Given the description of an element on the screen output the (x, y) to click on. 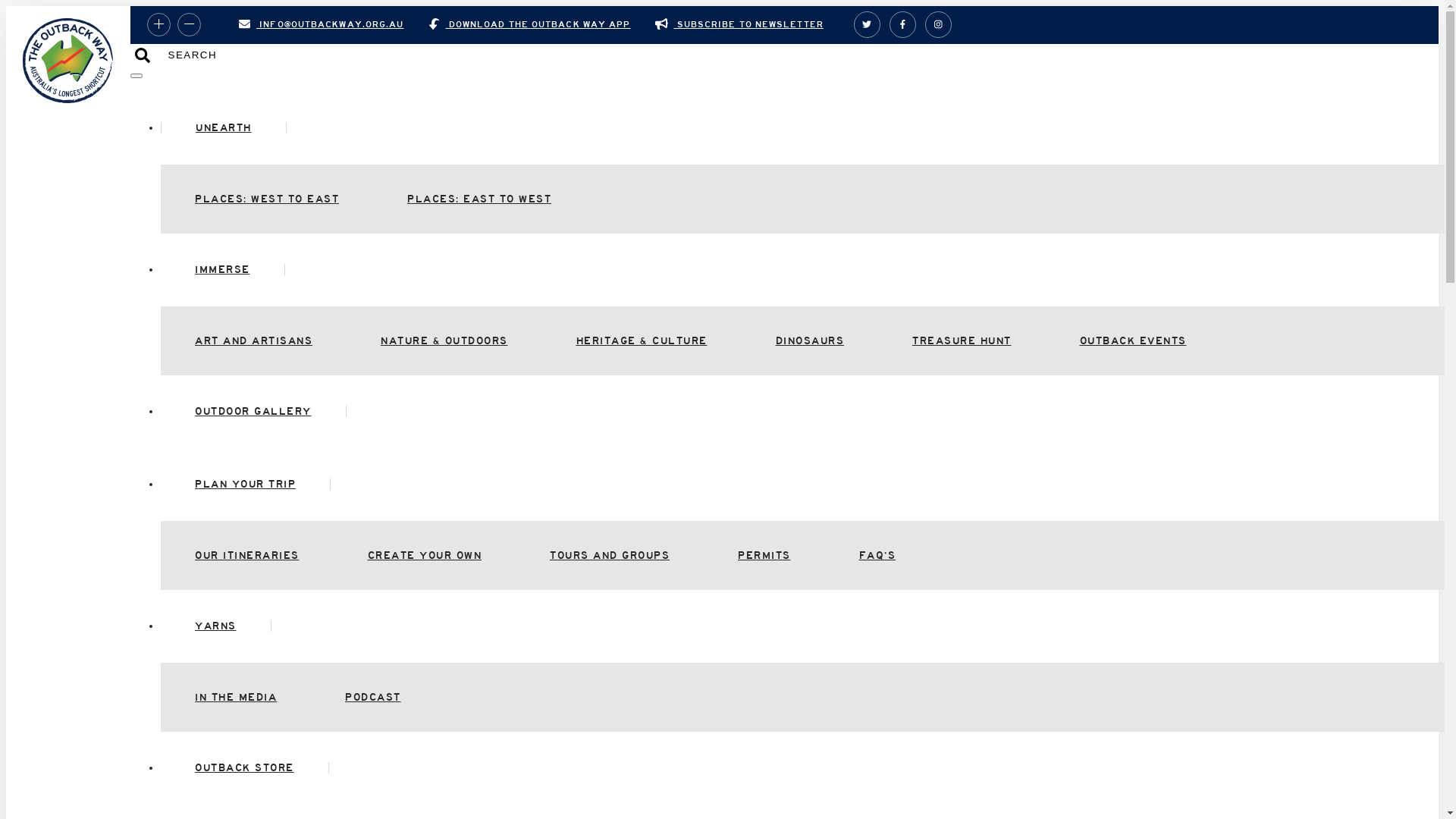
IN THE MEDIA Element type: text (235, 696)
Search Element type: text (142, 55)
DOWNLOAD THE OUTBACK WAY APP Element type: text (529, 24)
YARNS Element type: text (215, 625)
PERMITS Element type: text (764, 554)
CREATE YOUR OWN Element type: text (424, 554)
PLACES: EAST TO WEST Element type: text (479, 198)
PODCAST Element type: text (372, 696)
HERITAGE & CULTURE Element type: text (640, 340)
OUTDOOR GALLERY Element type: text (253, 411)
INFO@OUTBACKWAY.ORG.AU Element type: text (320, 24)
SUBSCRIBE TO NEWSLETTER Element type: text (739, 24)
PLACES: WEST TO EAST Element type: text (266, 198)
PLAN YOUR TRIP Element type: text (245, 483)
OUTBACK EVENTS Element type: text (1132, 340)
IMMERSE Element type: text (222, 269)
ART AND ARTISANS Element type: text (253, 340)
DINOSAURS Element type: text (809, 340)
UNEARTH Element type: text (223, 127)
TREASURE HUNT Element type: text (961, 340)
OUR ITINERARIES Element type: text (246, 554)
TOURS AND GROUPS Element type: text (609, 554)
NATURE & OUTDOORS Element type: text (444, 340)
OUTBACK STORE Element type: text (244, 767)
